Given the description of an element on the screen output the (x, y) to click on. 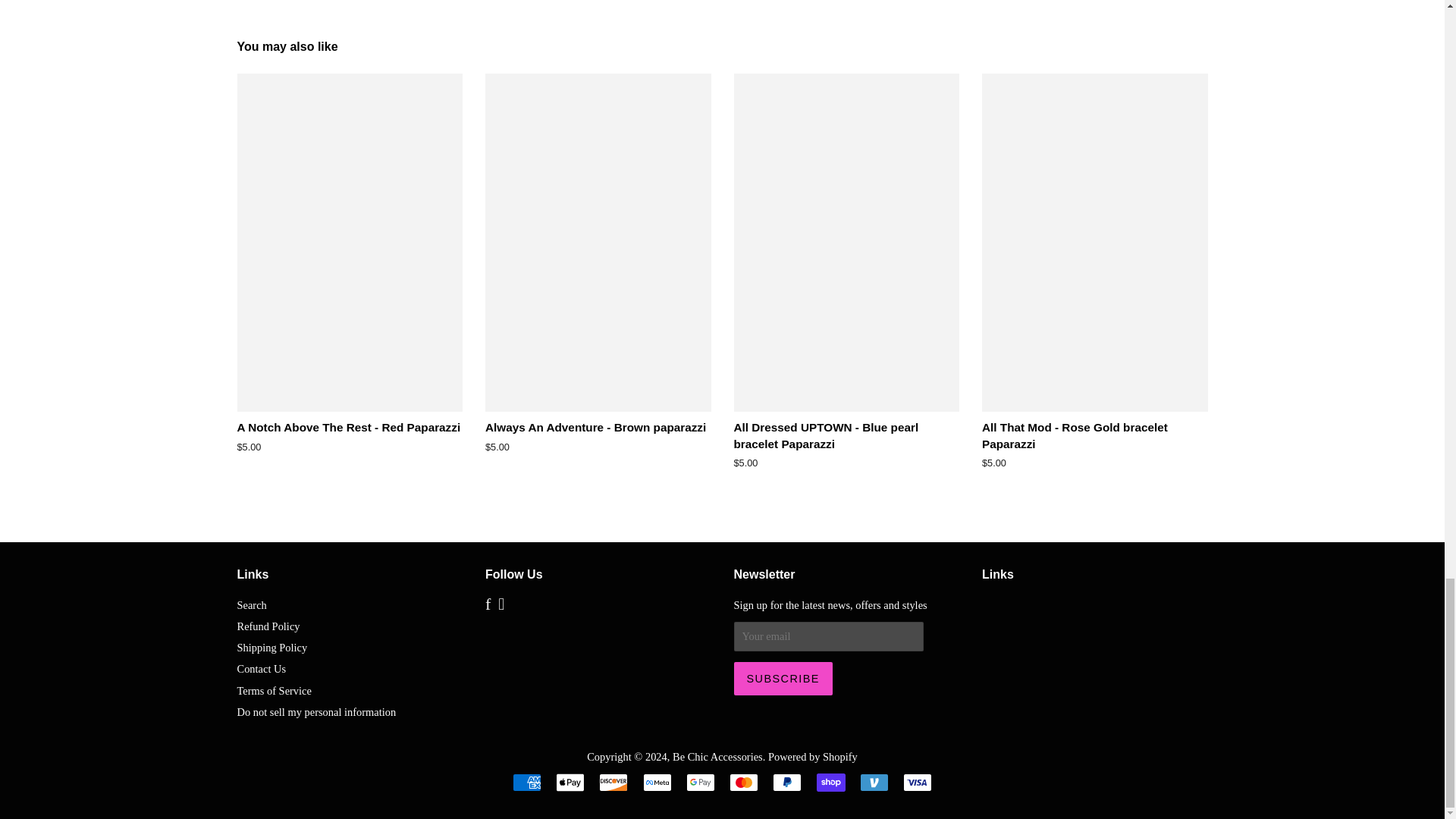
Google Pay (699, 782)
Venmo (874, 782)
Mastercard (743, 782)
Apple Pay (570, 782)
Discover (612, 782)
Visa (916, 782)
Shop Pay (830, 782)
American Express (526, 782)
Subscribe (782, 678)
Meta Pay (657, 782)
